Given the description of an element on the screen output the (x, y) to click on. 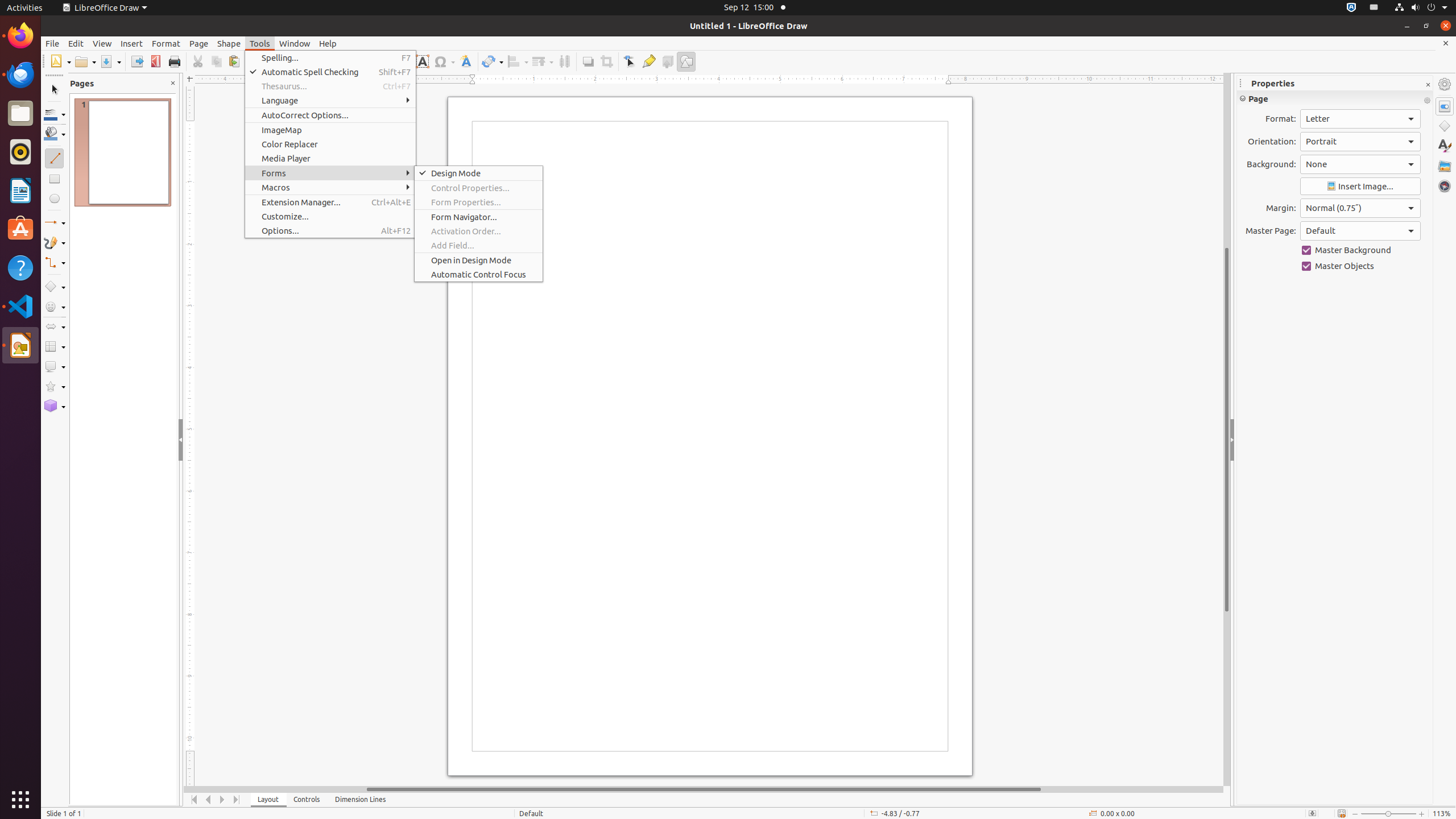
Save Element type: push-button (109, 61)
Fontwork Style Element type: toggle-button (465, 61)
PDF Element type: push-button (155, 61)
Shadow Element type: toggle-button (587, 61)
:1.72/StatusNotifierItem Element type: menu (1350, 7)
